Given the description of an element on the screen output the (x, y) to click on. 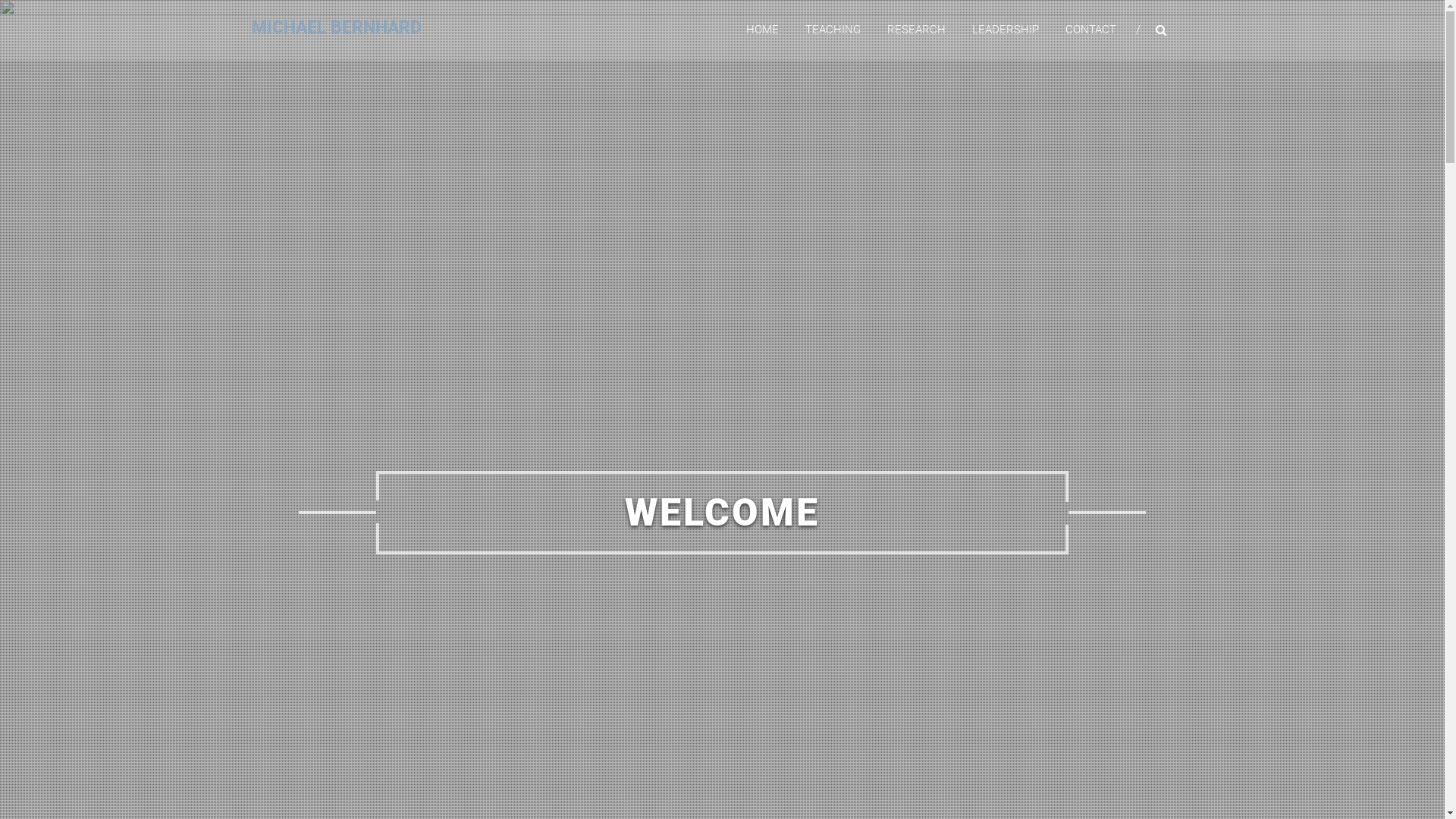
CONTACT Element type: text (1089, 29)
RESEARCH Element type: text (916, 29)
LEADERSHIP Element type: text (1005, 29)
MICHAEL BERNHARD Element type: text (336, 27)
Search Element type: text (1231, 409)
TEACHING Element type: text (832, 29)
HOME Element type: text (762, 29)
